Given the description of an element on the screen output the (x, y) to click on. 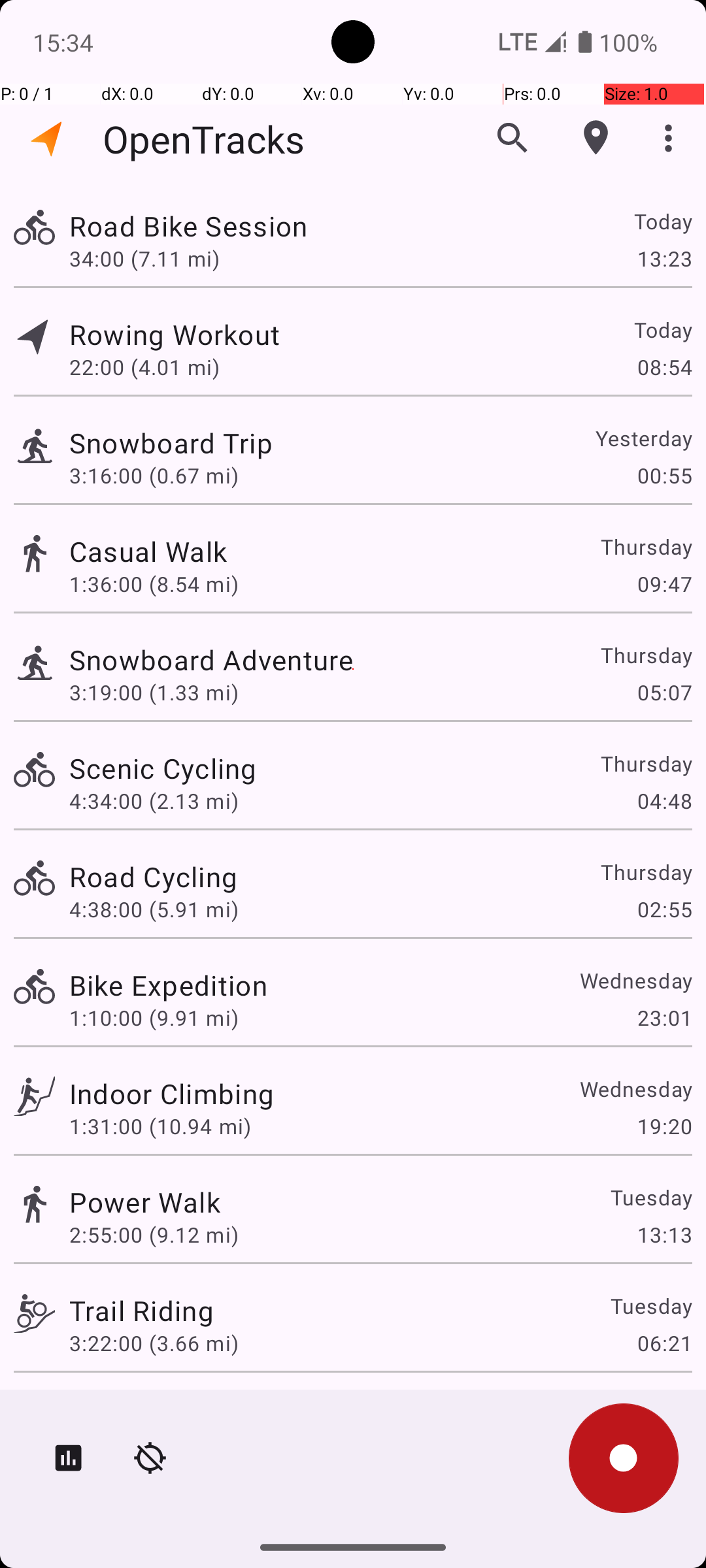
Road Bike Session Element type: android.widget.TextView (187, 225)
34:00 (7.11 mi) Element type: android.widget.TextView (144, 258)
13:23 Element type: android.widget.TextView (664, 258)
Rowing Workout Element type: android.widget.TextView (174, 333)
22:00 (4.01 mi) Element type: android.widget.TextView (144, 366)
08:54 Element type: android.widget.TextView (664, 366)
Snowboard Trip Element type: android.widget.TextView (170, 442)
3:16:00 (0.67 mi) Element type: android.widget.TextView (153, 475)
00:55 Element type: android.widget.TextView (664, 475)
Casual Walk Element type: android.widget.TextView (147, 550)
1:36:00 (8.54 mi) Element type: android.widget.TextView (153, 583)
09:47 Element type: android.widget.TextView (664, 583)
Snowboard Adventure Element type: android.widget.TextView (210, 659)
3:19:00 (1.33 mi) Element type: android.widget.TextView (153, 692)
05:07 Element type: android.widget.TextView (664, 692)
Scenic Cycling Element type: android.widget.TextView (162, 767)
4:34:00 (2.13 mi) Element type: android.widget.TextView (153, 800)
04:48 Element type: android.widget.TextView (664, 800)
Road Cycling Element type: android.widget.TextView (152, 876)
4:38:00 (5.91 mi) Element type: android.widget.TextView (153, 909)
02:55 Element type: android.widget.TextView (664, 909)
Bike Expedition Element type: android.widget.TextView (168, 984)
1:10:00 (9.91 mi) Element type: android.widget.TextView (153, 1017)
23:01 Element type: android.widget.TextView (664, 1017)
Indoor Climbing Element type: android.widget.TextView (171, 1092)
1:31:00 (10.94 mi) Element type: android.widget.TextView (159, 1125)
19:20 Element type: android.widget.TextView (664, 1125)
Power Walk Element type: android.widget.TextView (144, 1201)
2:55:00 (9.12 mi) Element type: android.widget.TextView (153, 1234)
13:13 Element type: android.widget.TextView (664, 1234)
Trail Riding Element type: android.widget.TextView (141, 1309)
3:22:00 (3.66 mi) Element type: android.widget.TextView (153, 1342)
06:21 Element type: android.widget.TextView (664, 1342)
Rock Climbing Element type: android.widget.TextView (161, 1408)
